Given the description of an element on the screen output the (x, y) to click on. 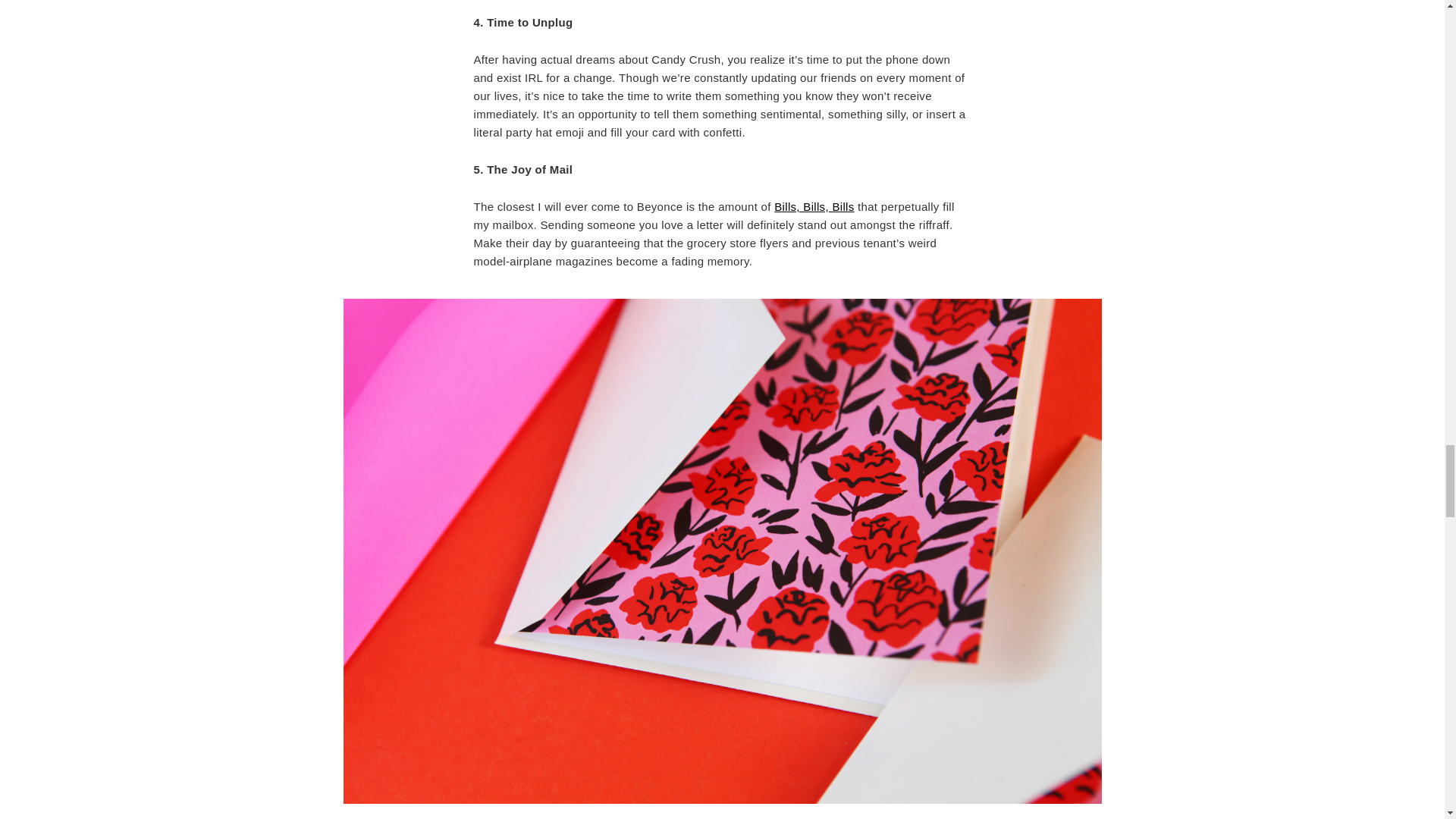
Bills, Bills, Bills (813, 205)
